Given the description of an element on the screen output the (x, y) to click on. 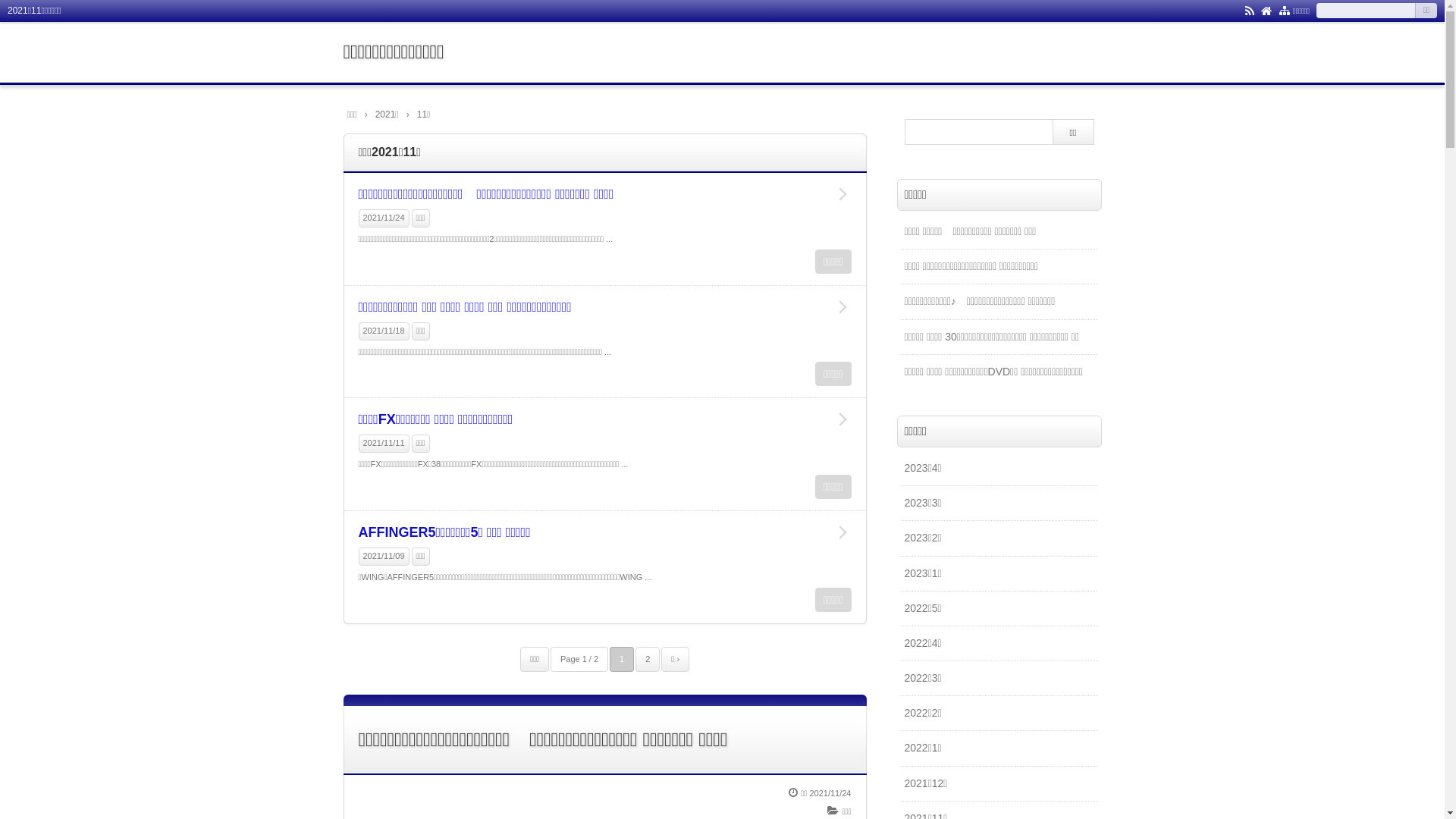
RSS Element type: hover (1249, 9)
2 Element type: text (647, 658)
HOME Element type: hover (1266, 9)
